Given the description of an element on the screen output the (x, y) to click on. 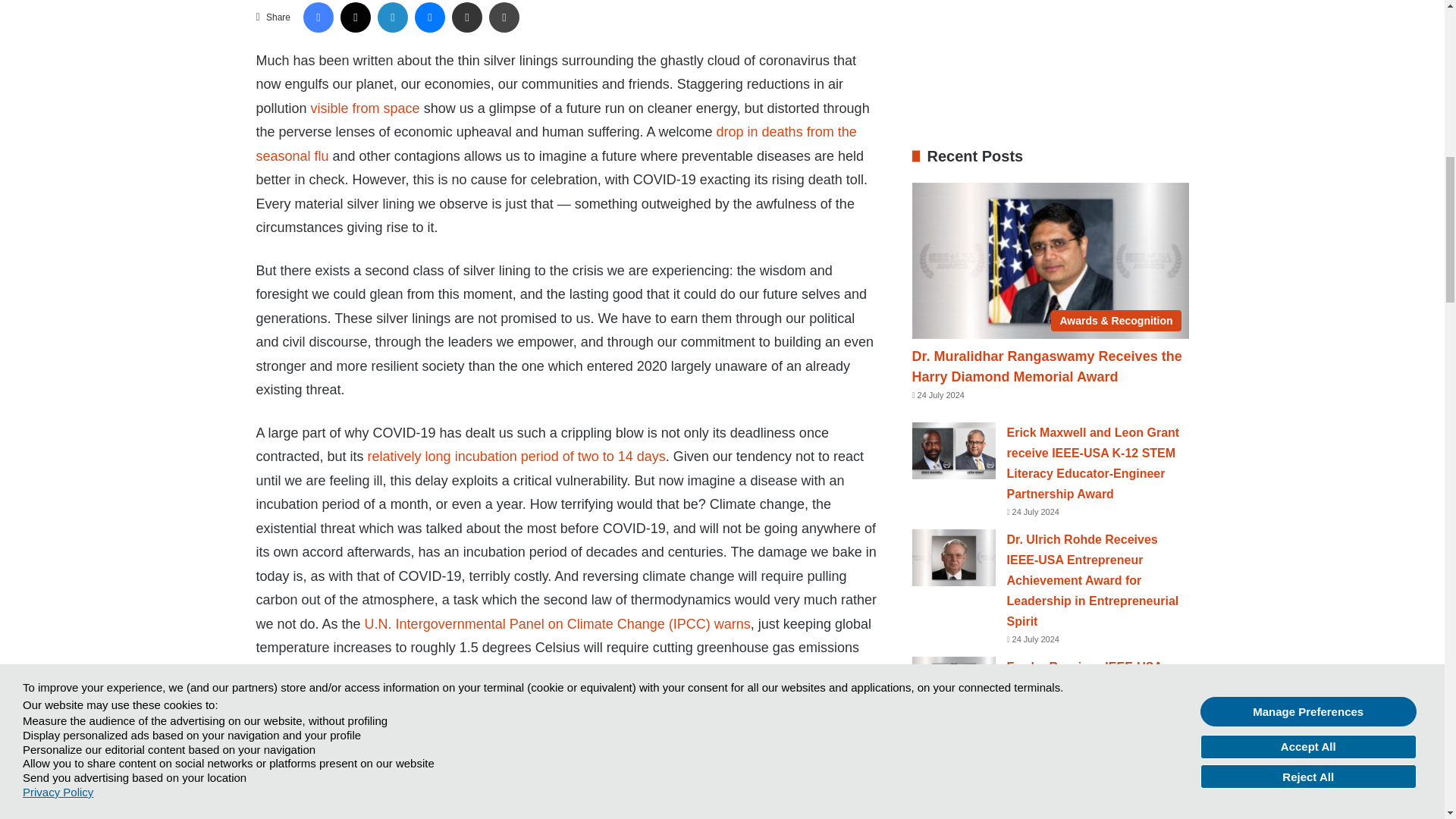
LinkedIn (392, 17)
Facebook (317, 17)
X (355, 17)
Messenger (429, 17)
Share via Email (466, 17)
Print (504, 17)
